Given the description of an element on the screen output the (x, y) to click on. 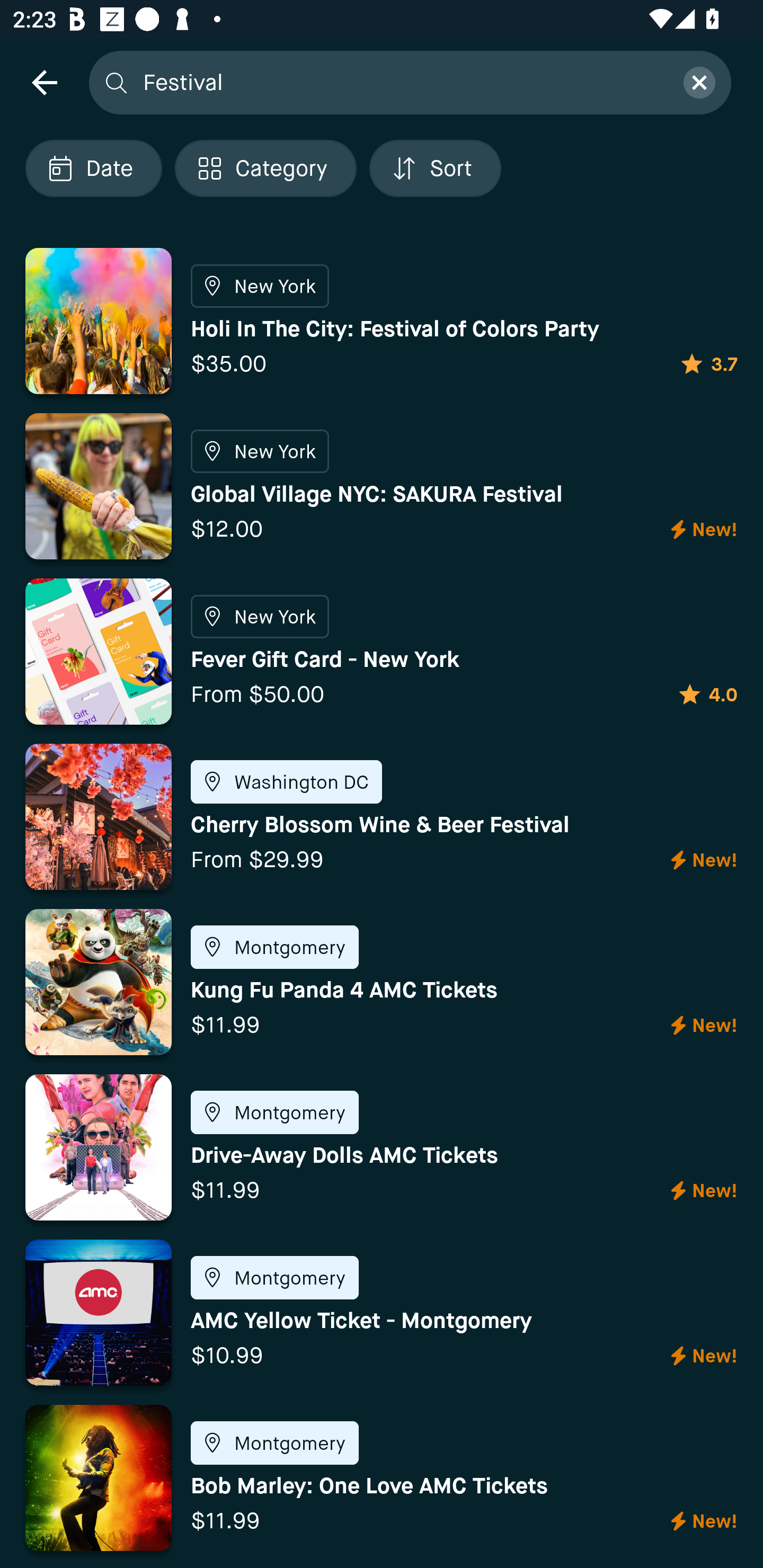
navigation icon (44, 81)
Festival (402, 81)
Localized description Date (93, 168)
Localized description Category (265, 168)
Localized description Sort (435, 168)
